Given the description of an element on the screen output the (x, y) to click on. 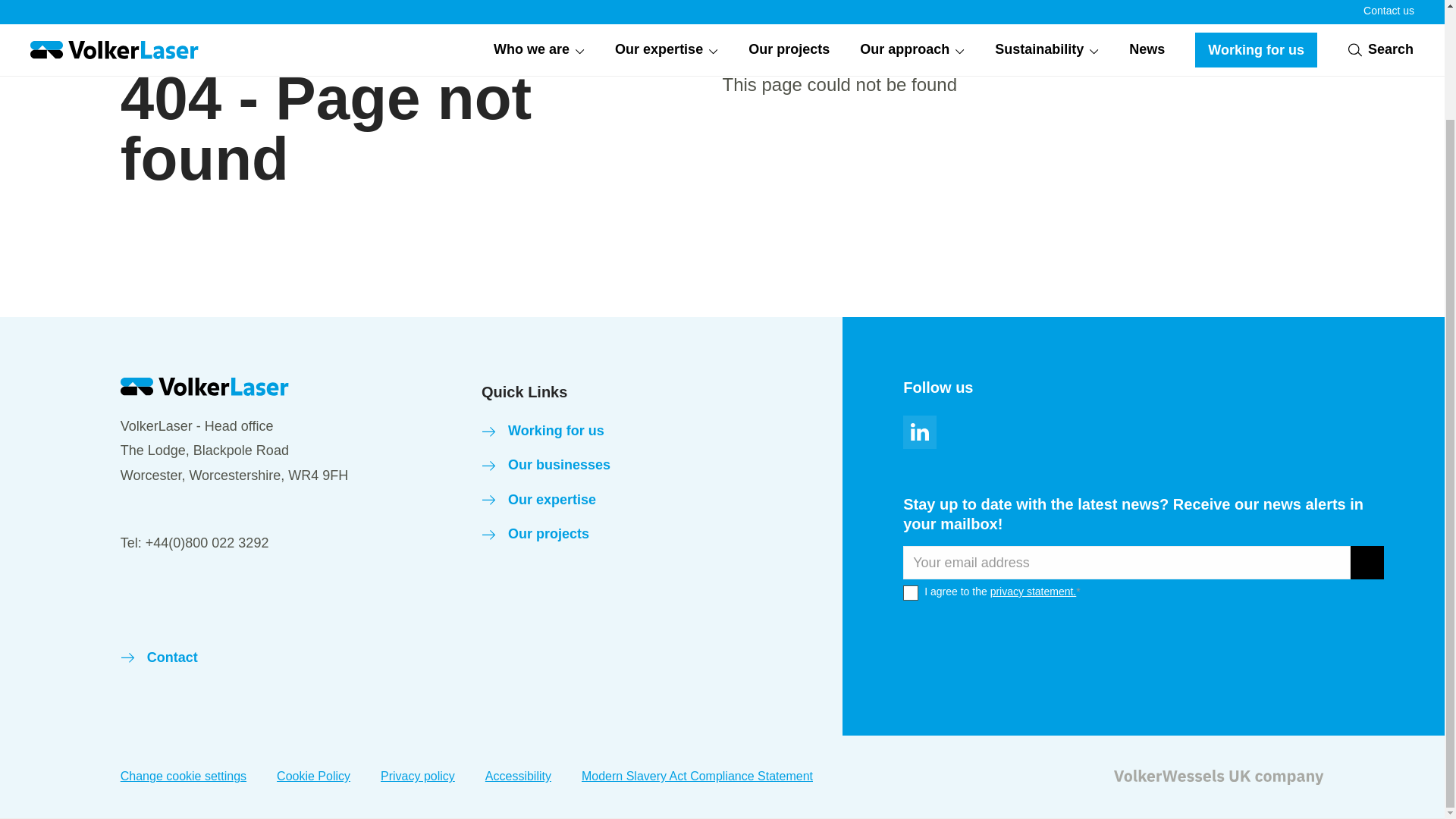
Submit (1367, 562)
